Given the description of an element on the screen output the (x, y) to click on. 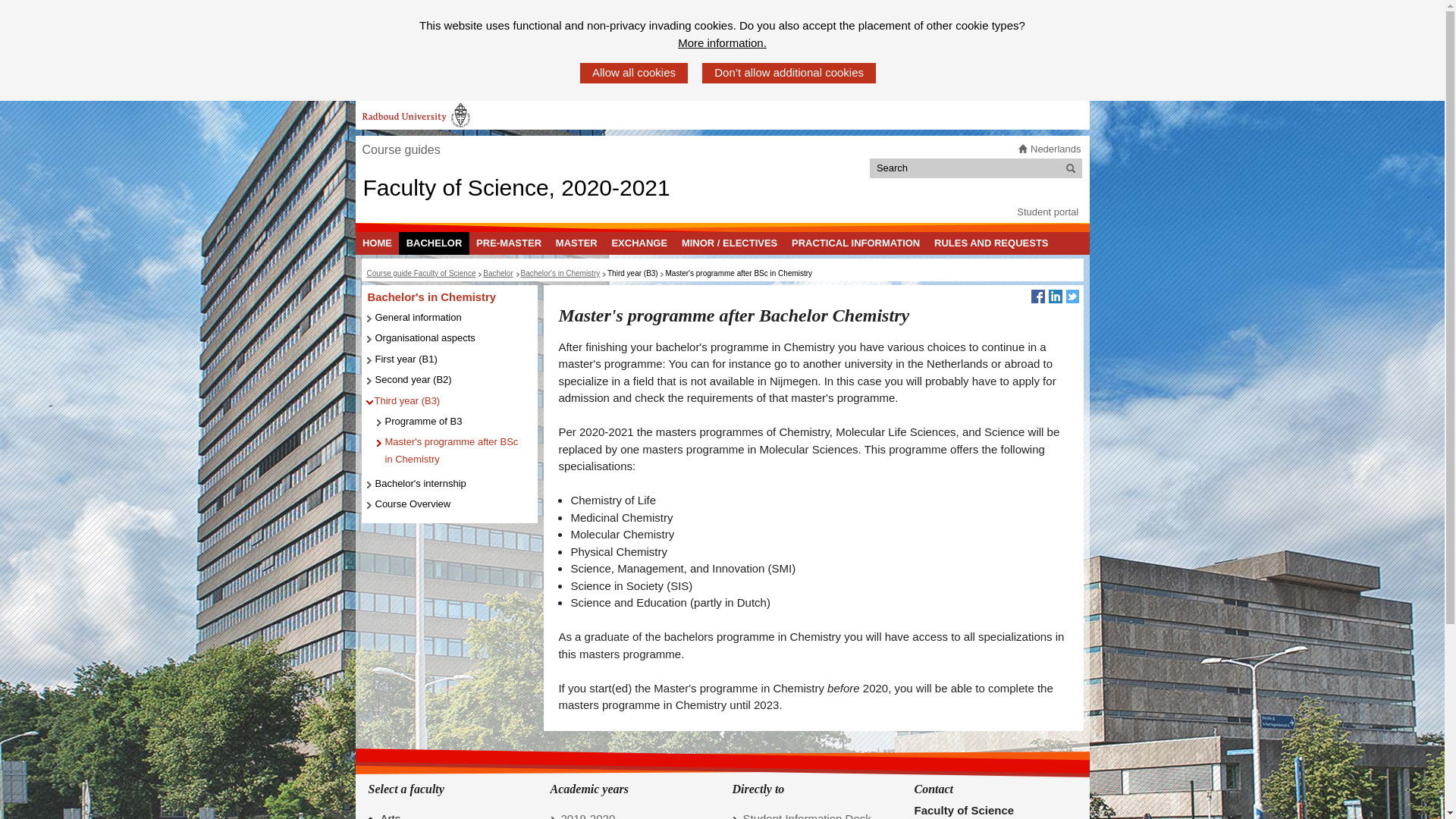
Nederlands (1055, 149)
Search (1070, 168)
BACHELOR (434, 243)
Allow all cookies (633, 73)
Allow all cookies (633, 73)
Radboud University (415, 115)
Student portal (1047, 211)
Faculty of Science, 2020-2021 (515, 187)
HOME (376, 243)
Course guides (400, 149)
More information. (722, 43)
